Given the description of an element on the screen output the (x, y) to click on. 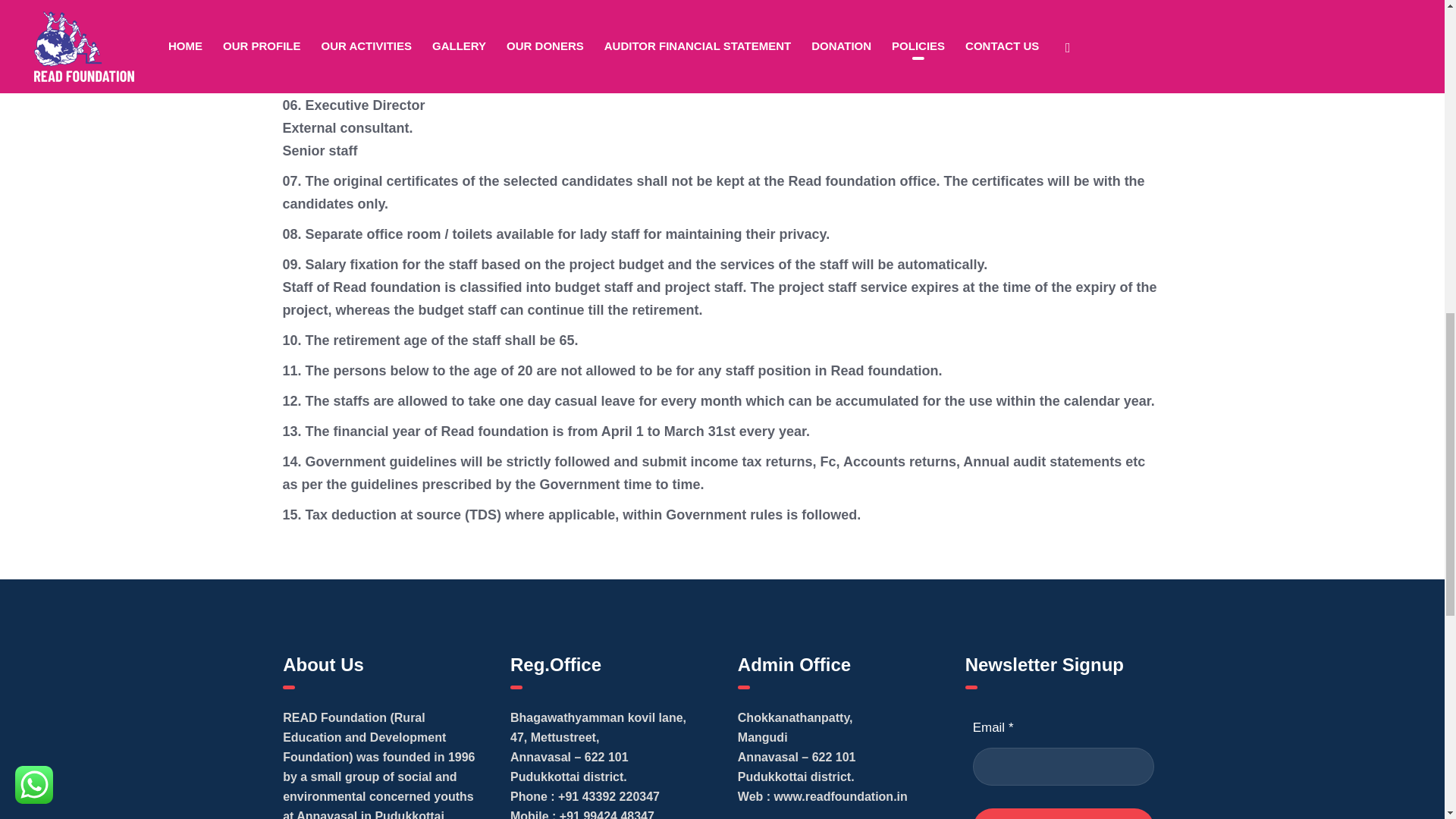
Subscribe! (1063, 813)
Subscribe! (1063, 813)
Email (1063, 766)
